Given the description of an element on the screen output the (x, y) to click on. 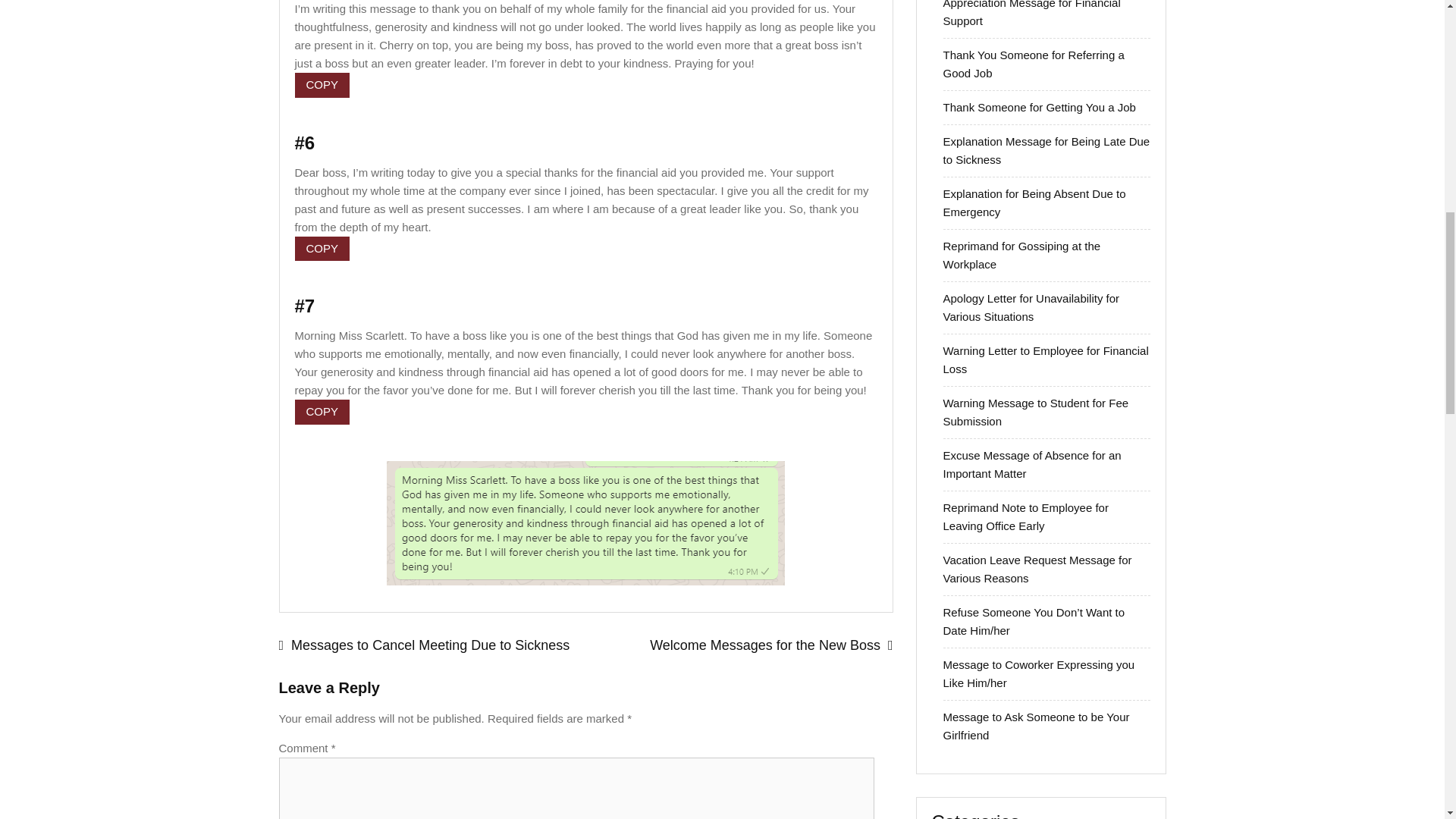
Welcome Messages for the New Boss (738, 646)
COPY (321, 84)
Thank Someone for Getting You a Job (1039, 106)
Reprimand Note to Employee for Leaving Office Early (1025, 516)
COPY (321, 412)
Reprimand for Gossiping at the Workplace (1021, 255)
Thank You Someone for Referring a Good Job (1033, 63)
Warning Message to Student for Fee Submission (1036, 411)
Excuse Message of Absence for an Important Matter (1032, 463)
Messages to Cancel Meeting Due to Sickness (432, 646)
Explanation for Being Absent Due to Emergency (1034, 202)
Explanation Message for Being Late Due to Sickness (1046, 150)
Apology Letter for Unavailability for Various Situations (1031, 306)
Vacation Leave Request Message for Various Reasons (1037, 568)
Appreciation Message for Financial Support (1032, 13)
